Given the description of an element on the screen output the (x, y) to click on. 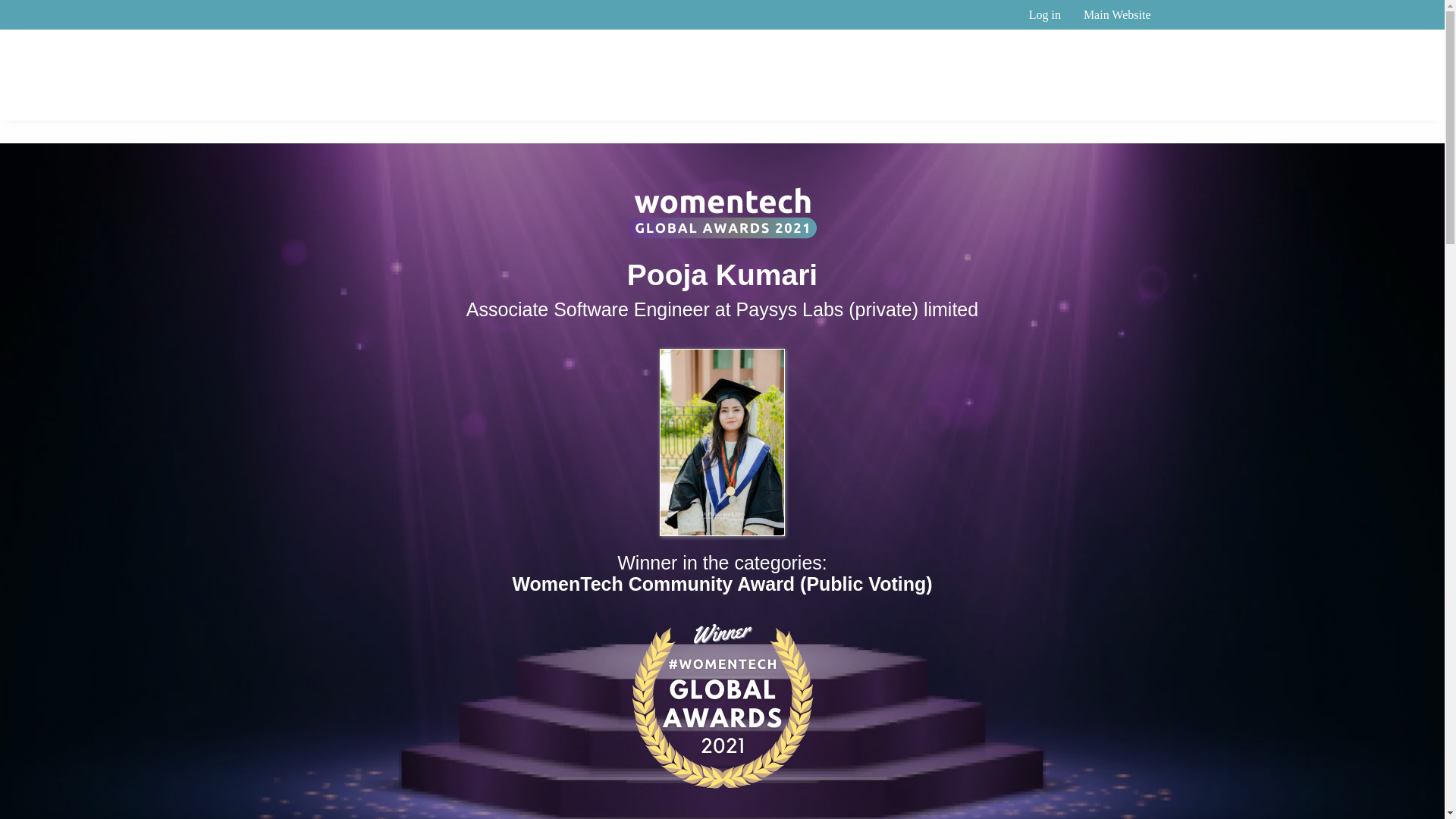
Main Website (1116, 14)
Log in (1044, 14)
Nominee (1093, 103)
